Given the description of an element on the screen output the (x, y) to click on. 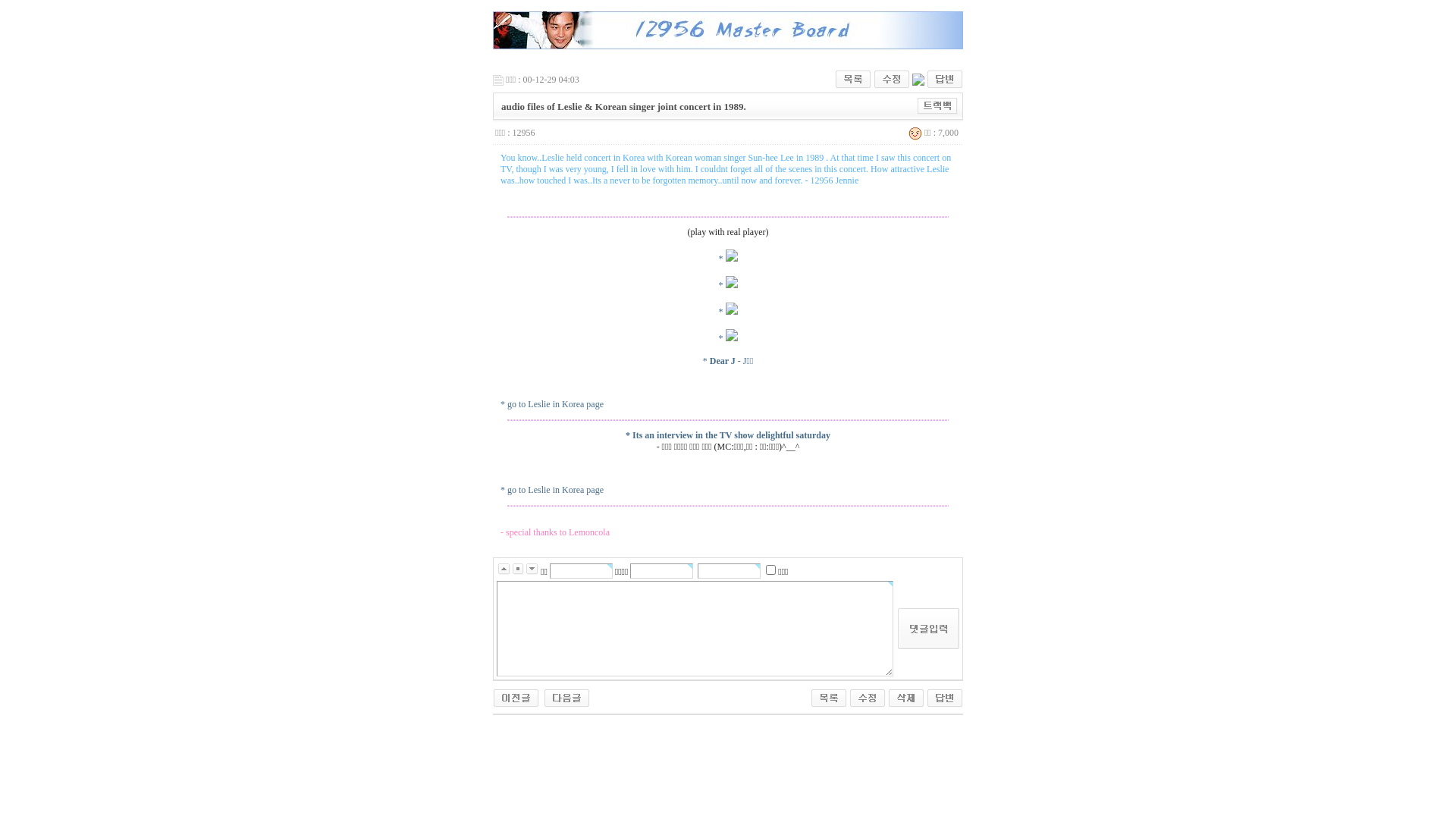
* Its an interview in the TV show delightful saturday Element type: text (727, 434)
* Element type: text (727, 258)
* Element type: text (727, 284)
* go to Leslie in Korea page Element type: text (551, 489)
* Element type: text (727, 337)
atlantic city concert pics~!!!..etc.(from mingpaoweekly) Element type: hover (566, 696)
* Element type: text (727, 311)
* go to Leslie in Korea page Element type: text (551, 403)
